Given the description of an element on the screen output the (x, y) to click on. 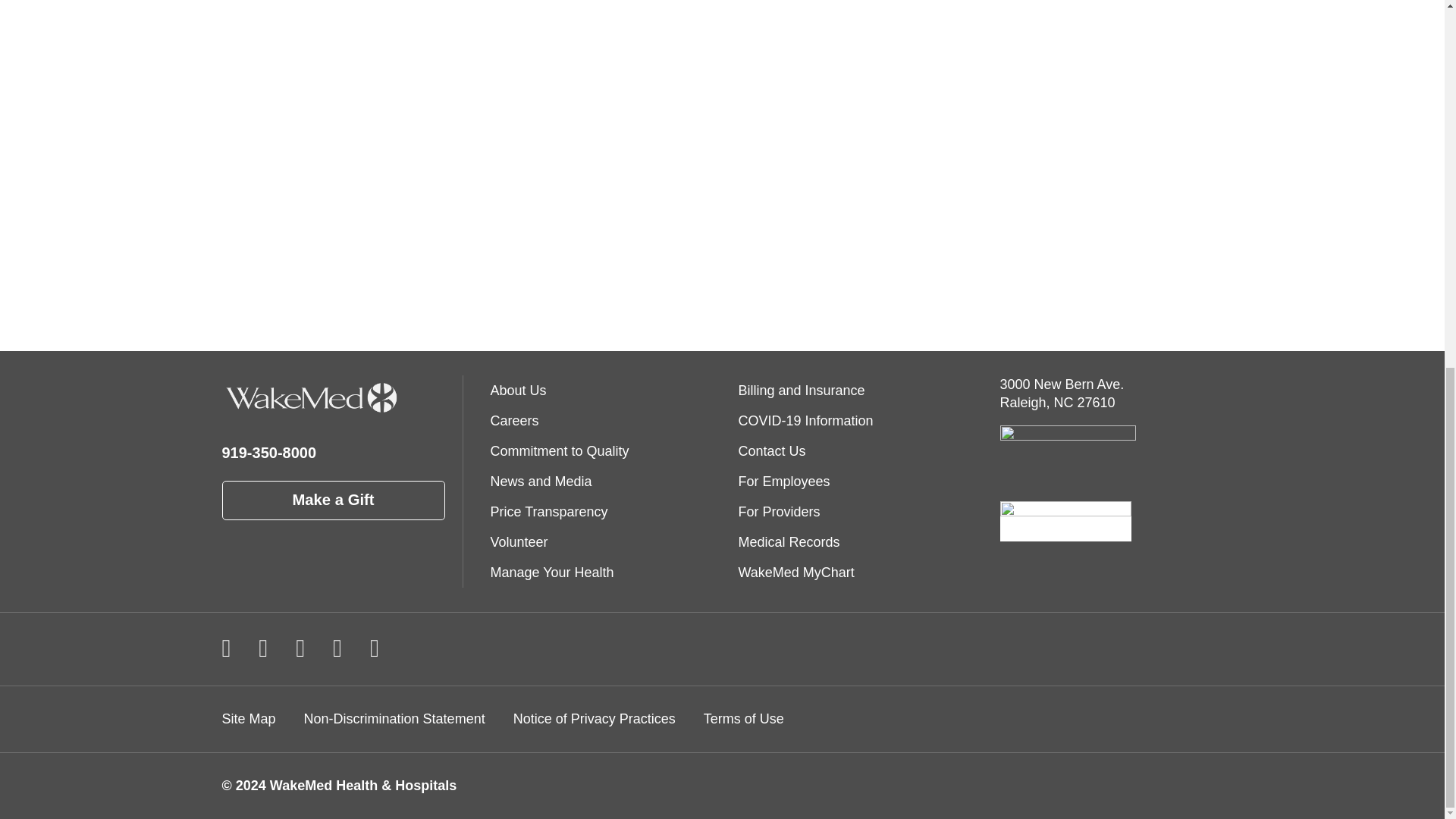
919-350-8000 (268, 452)
Commitment to Quality (601, 450)
Make a Gift (332, 500)
News and Media (601, 481)
Careers (601, 420)
About Us (601, 390)
See OUR STORY for more information. (635, 217)
Price Transparency (601, 511)
